Given the description of an element on the screen output the (x, y) to click on. 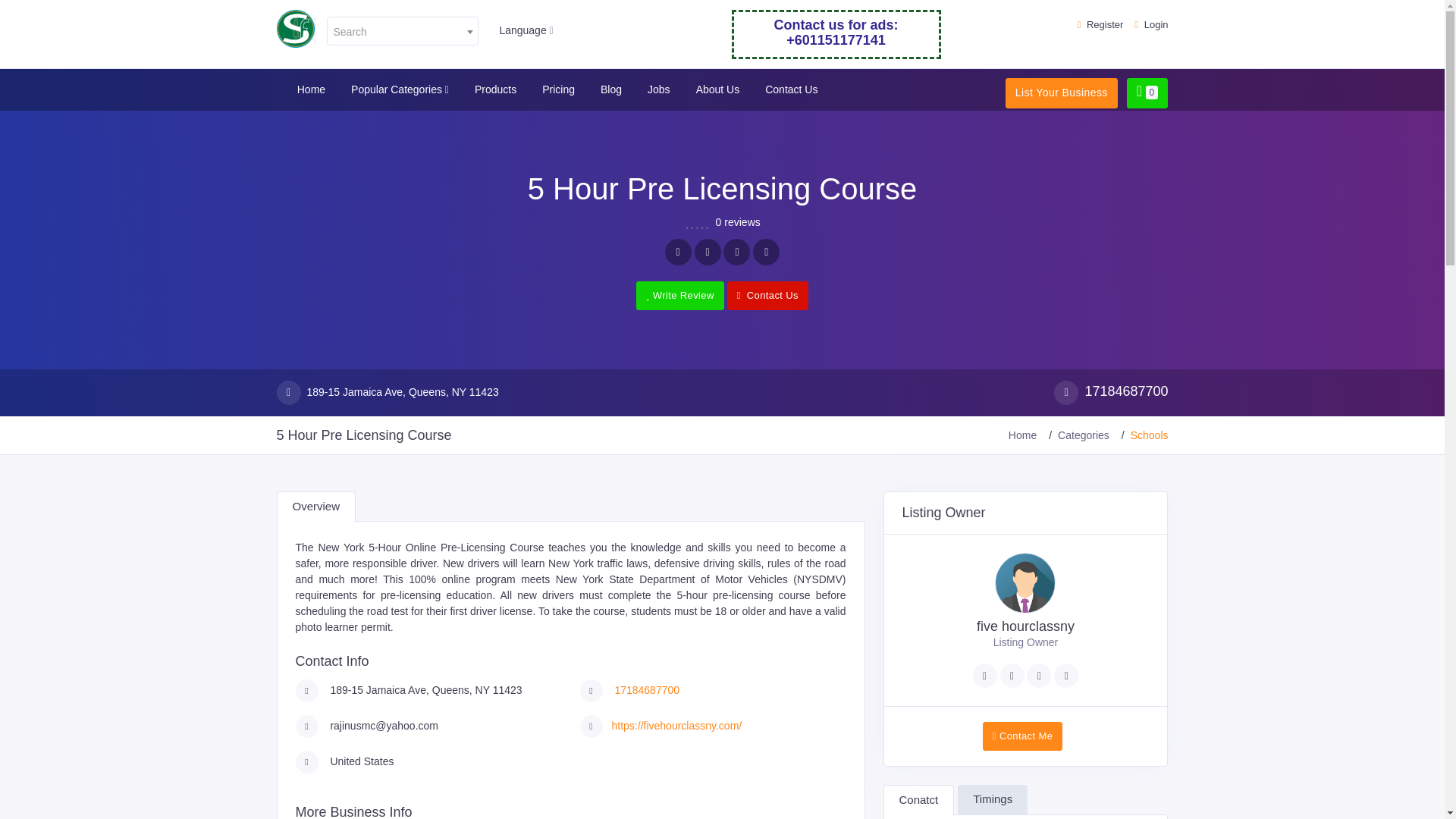
Language (526, 30)
Blog (611, 89)
Home (310, 89)
Login (1150, 24)
Products (495, 89)
Contact Us (791, 89)
List Your Business (1062, 92)
Pricing (558, 89)
0 (1147, 92)
0 reviews (738, 222)
About Us (717, 89)
Popular Categories (399, 89)
Jobs (658, 89)
Register (1100, 24)
